Given the description of an element on the screen output the (x, y) to click on. 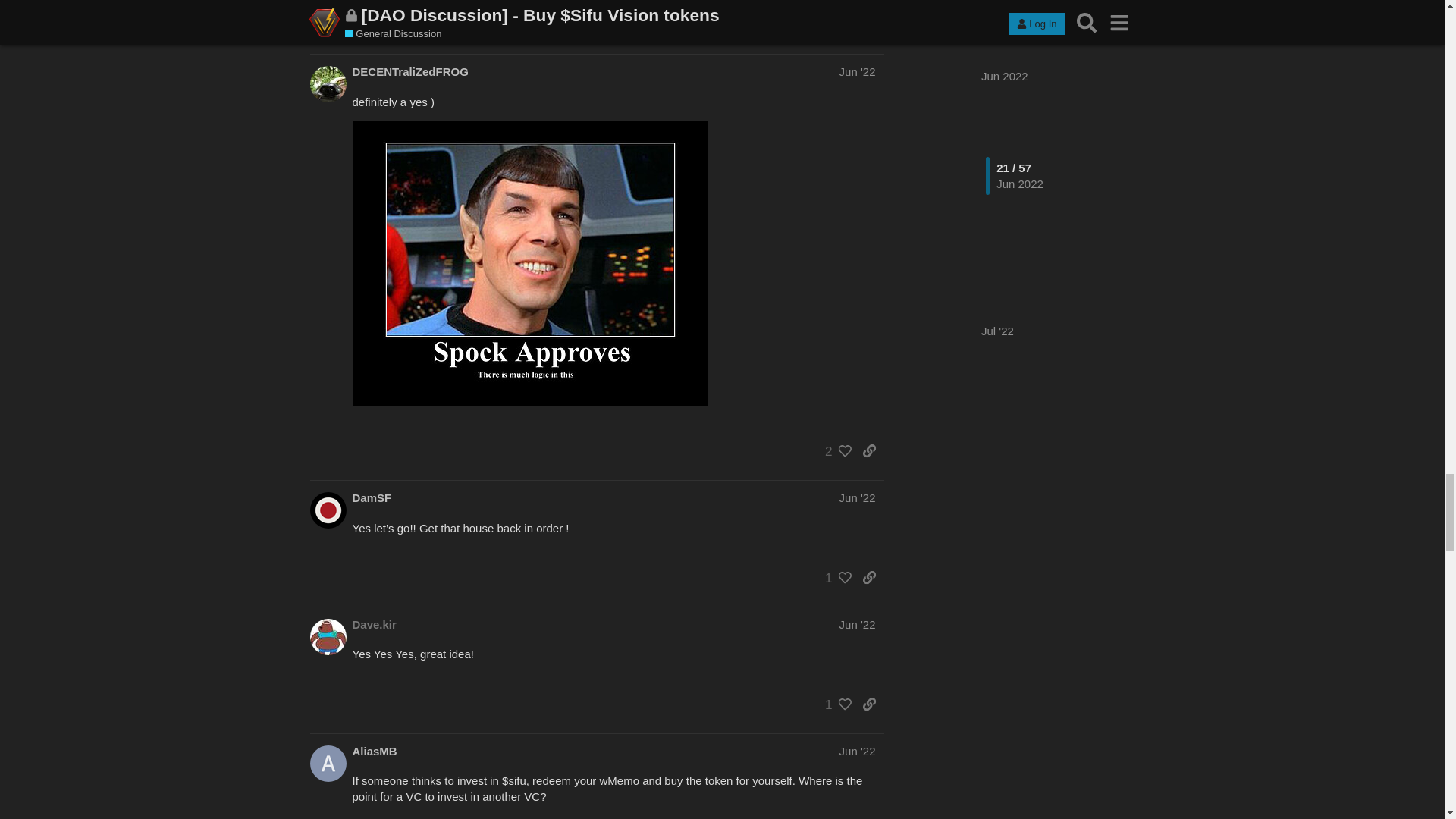
06:22PM - 28 October 2022 (404, 785)
09:02PM - 08 December 2022 (402, 560)
